Given the description of an element on the screen output the (x, y) to click on. 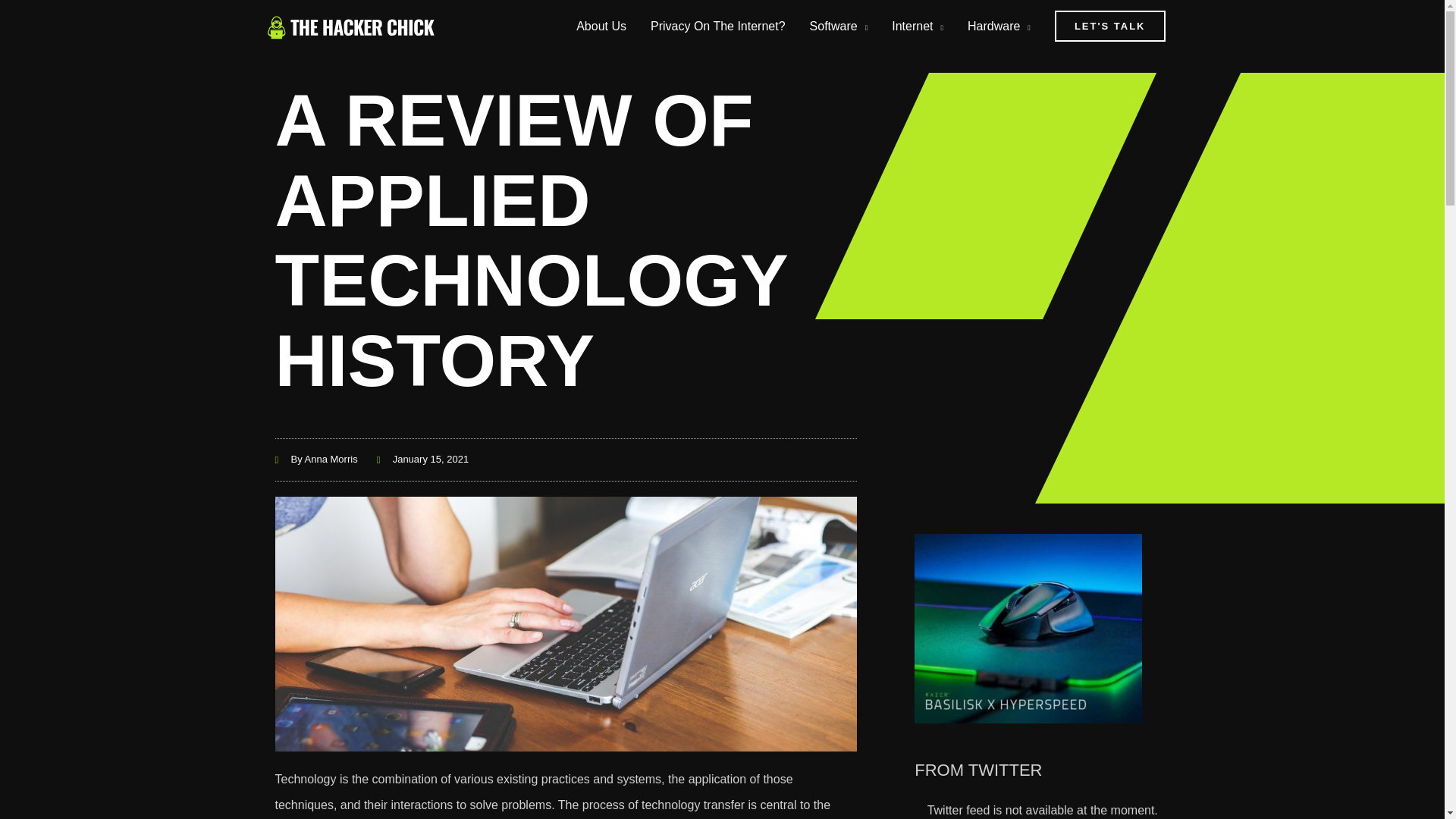
January 15, 2021 (422, 459)
LET'S TALK (1110, 25)
Internet (917, 26)
About Us (601, 26)
Privacy On The Internet? (718, 26)
Software (838, 26)
By Anna Morris (315, 459)
Hardware (998, 26)
